Given the description of an element on the screen output the (x, y) to click on. 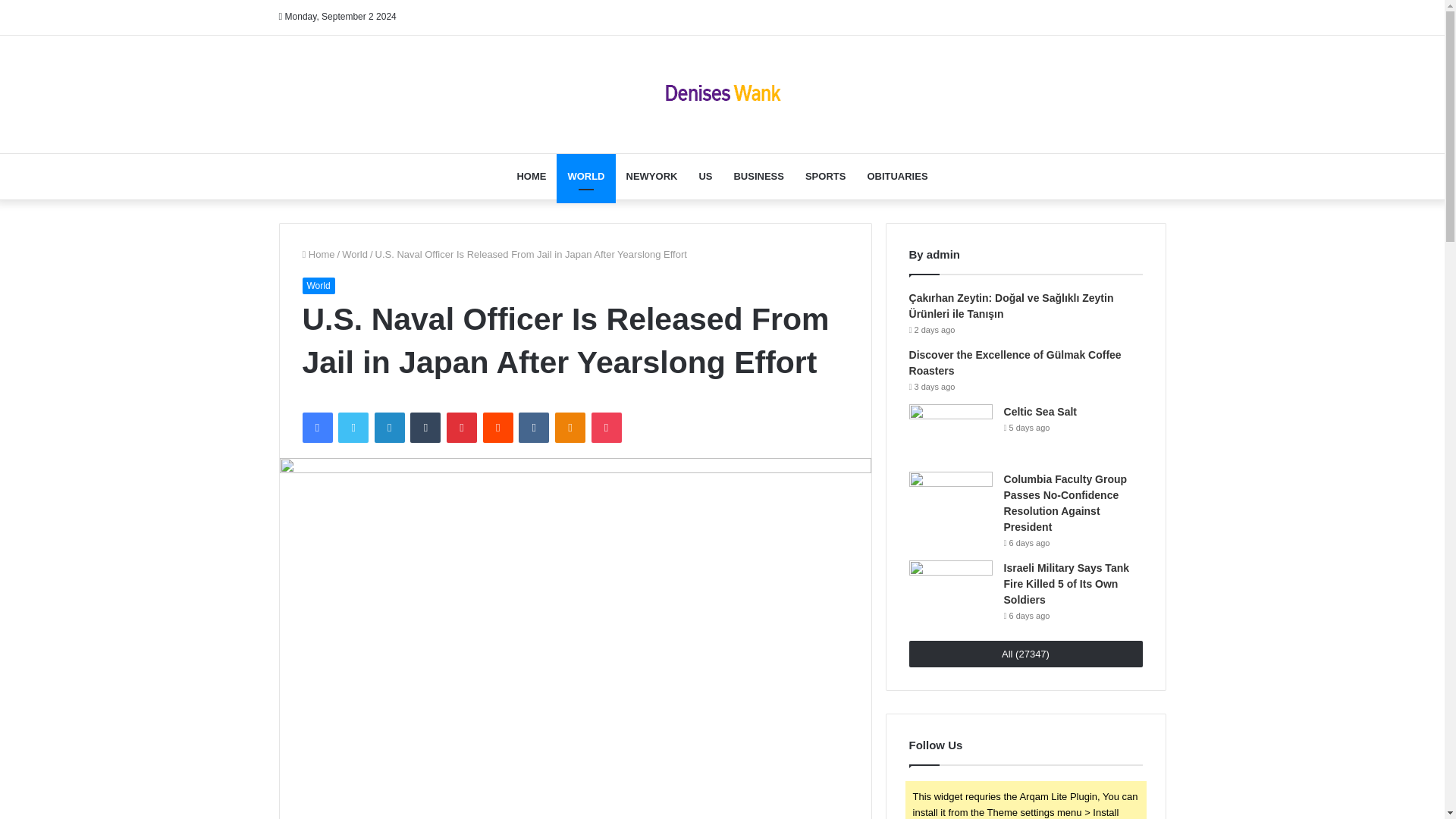
LinkedIn (389, 427)
Reddit (498, 427)
OBITUARIES (896, 176)
SPORTS (825, 176)
Pinterest (461, 427)
NEWYORK (651, 176)
Pinterest (461, 427)
LinkedIn (389, 427)
Reddit (498, 427)
Odnoklassniki (569, 427)
